Given the description of an element on the screen output the (x, y) to click on. 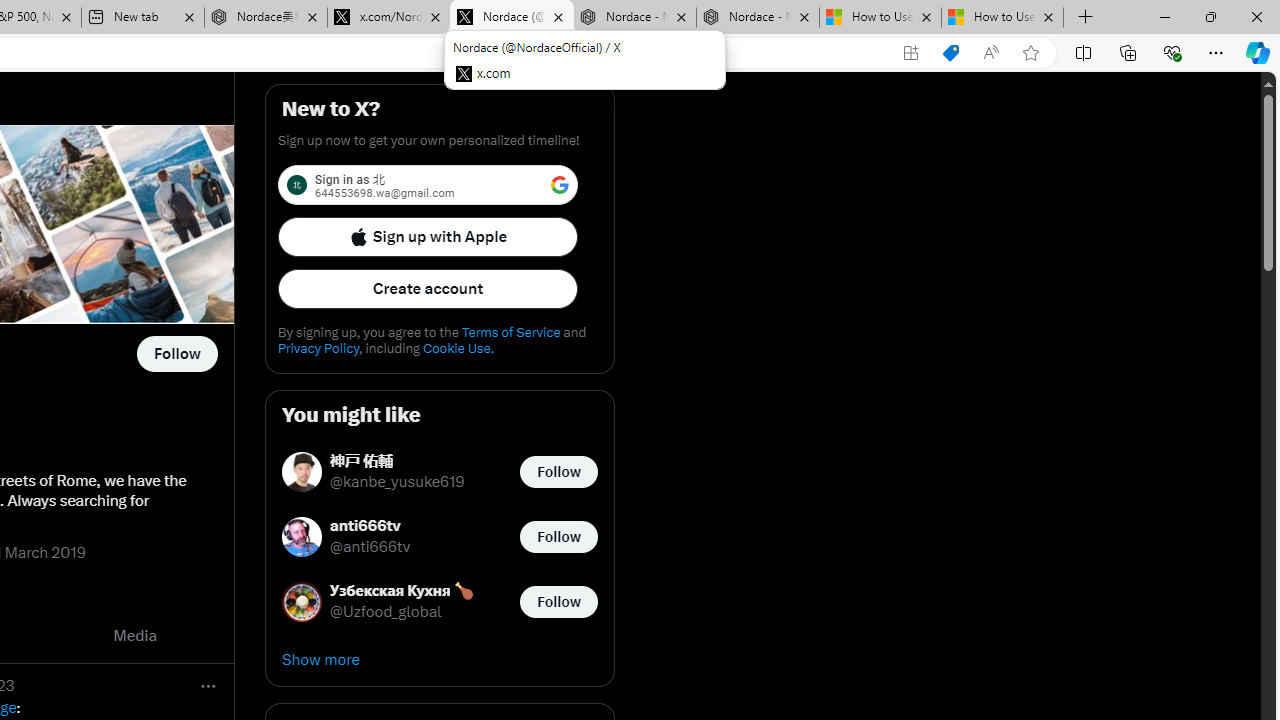
anti666tv @anti666tv Follow @anti666tv (440, 536)
